Given the description of an element on the screen output the (x, y) to click on. 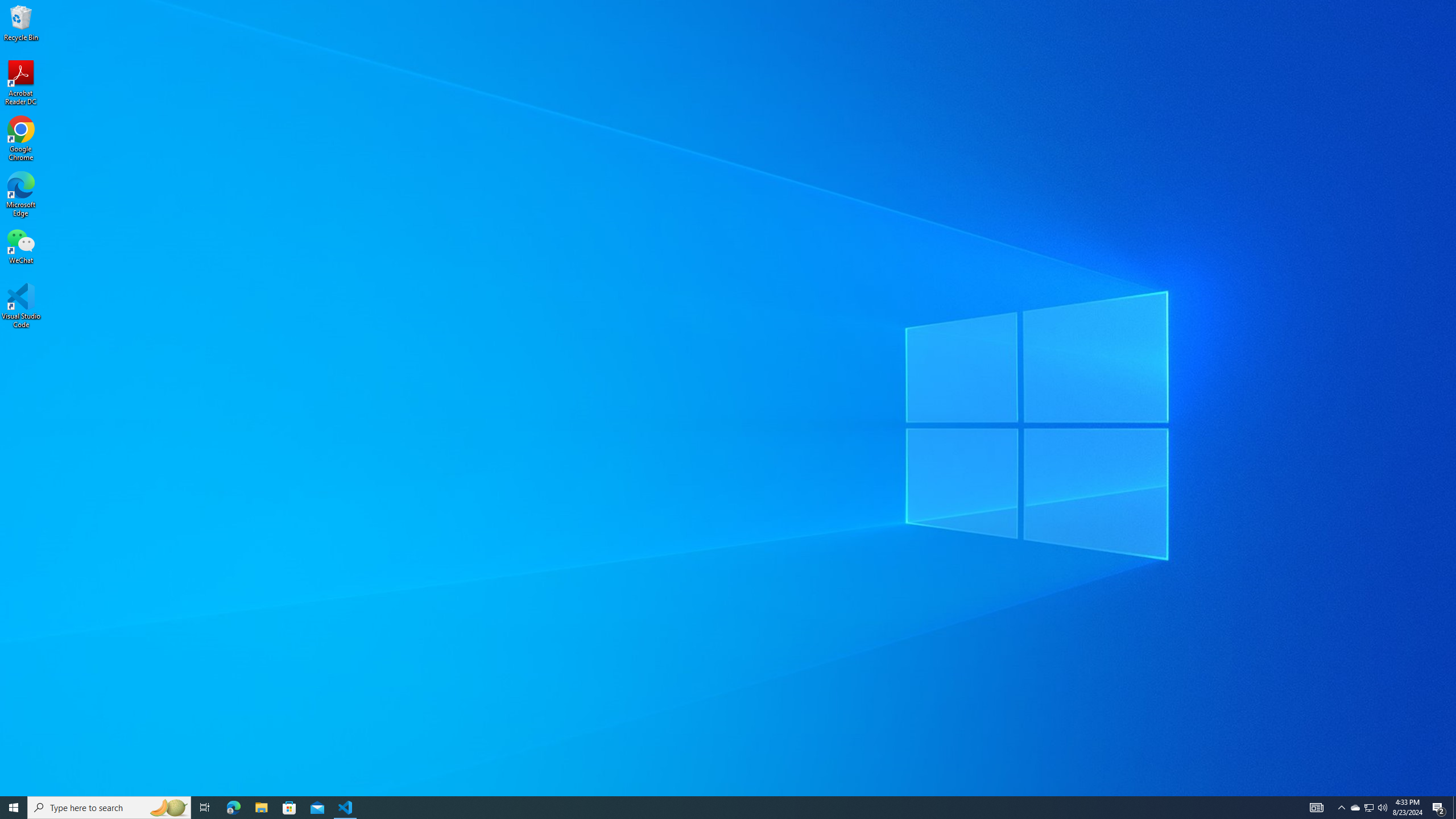
Visual Studio Code (21, 305)
Recycle Bin (21, 22)
Microsoft Edge (21, 194)
WeChat (21, 245)
Acrobat Reader DC (21, 82)
Google Chrome (21, 138)
